Given the description of an element on the screen output the (x, y) to click on. 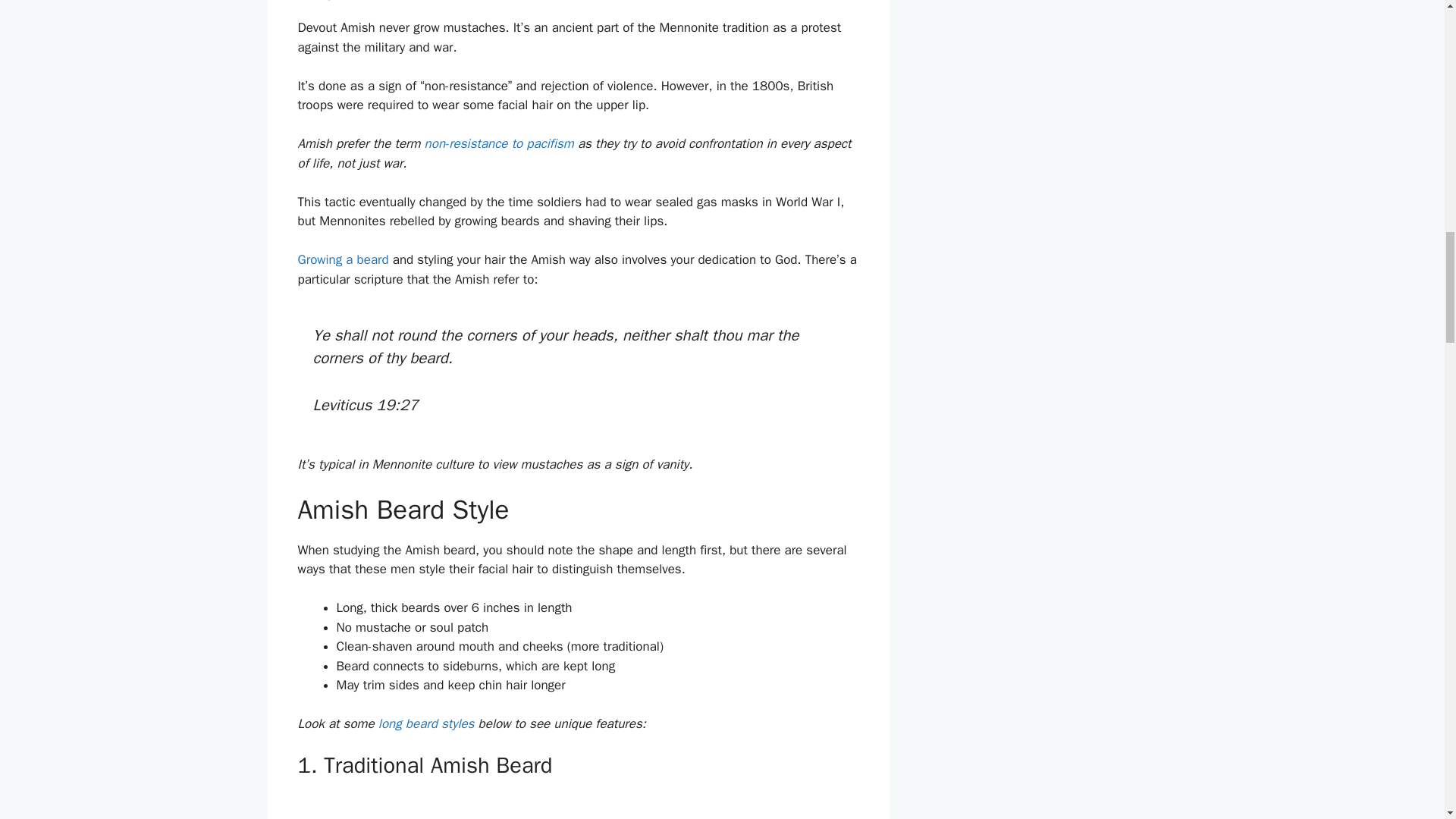
long beard styles (426, 723)
non-resistance to pacifism (499, 143)
Traditional Amish Beard (473, 806)
Growing a beard (342, 259)
